Given the description of an element on the screen output the (x, y) to click on. 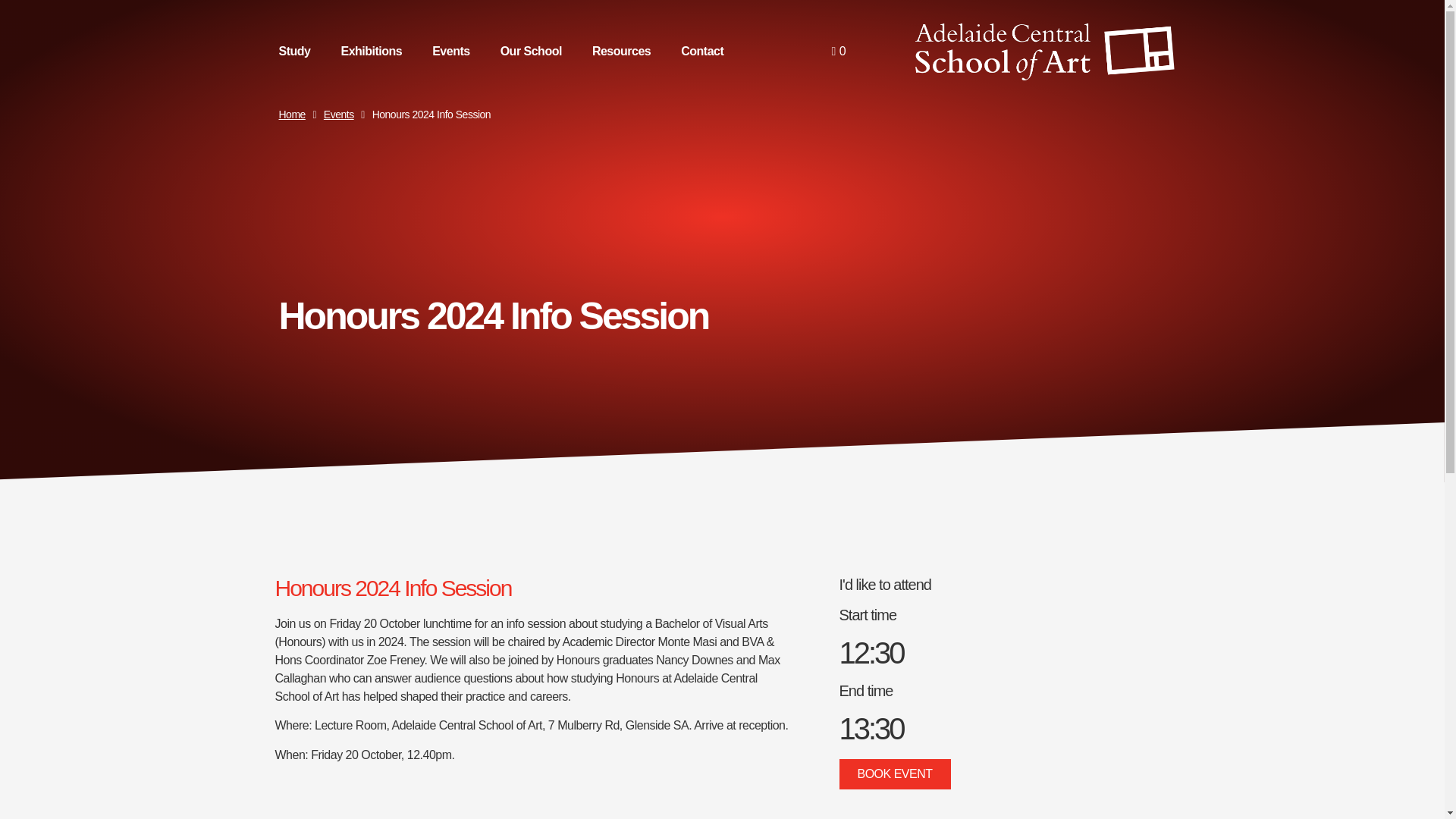
Events (338, 114)
Contact (701, 51)
Home (292, 114)
Events (450, 51)
Exhibitions (370, 51)
Our School (530, 51)
Resources (620, 51)
Study (294, 51)
